Given the description of an element on the screen output the (x, y) to click on. 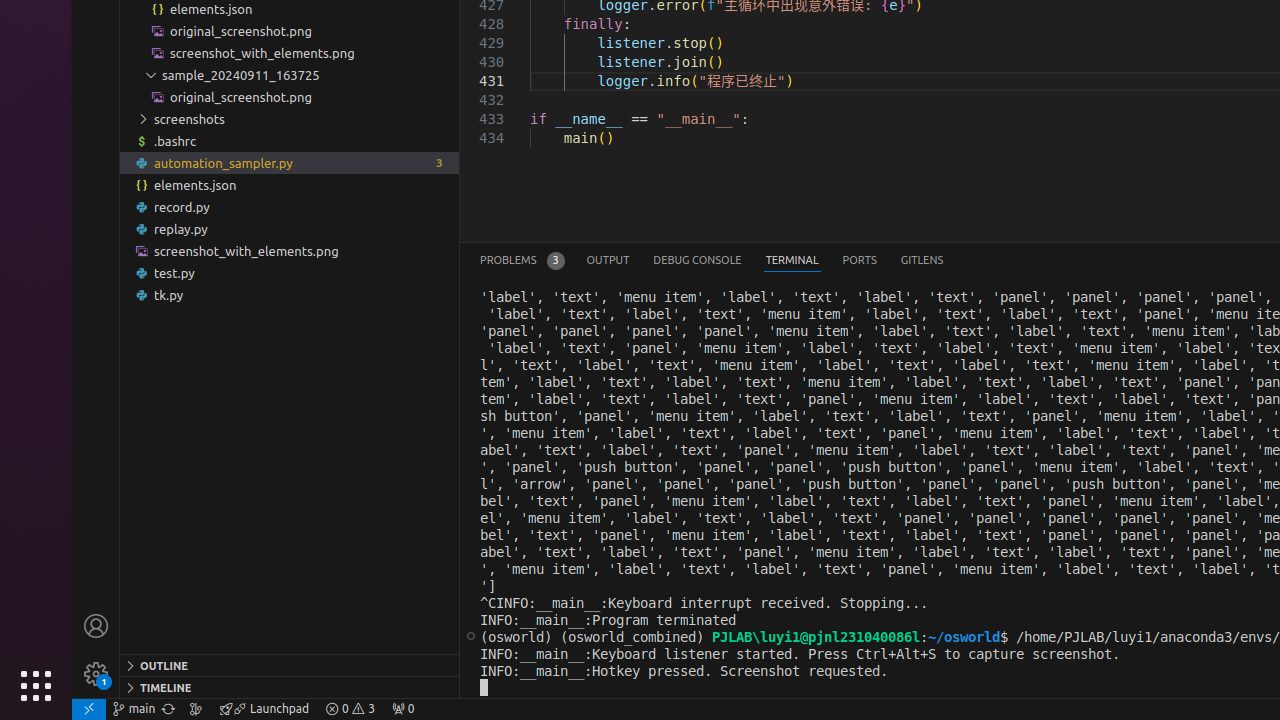
record.py Element type: tree-item (289, 206)
Show the GitLens Commit Graph Element type: push-button (196, 709)
test.py Element type: tree-item (289, 273)
elements.json Element type: tree-item (289, 184)
screenshots Element type: tree-item (289, 119)
